Given the description of an element on the screen output the (x, y) to click on. 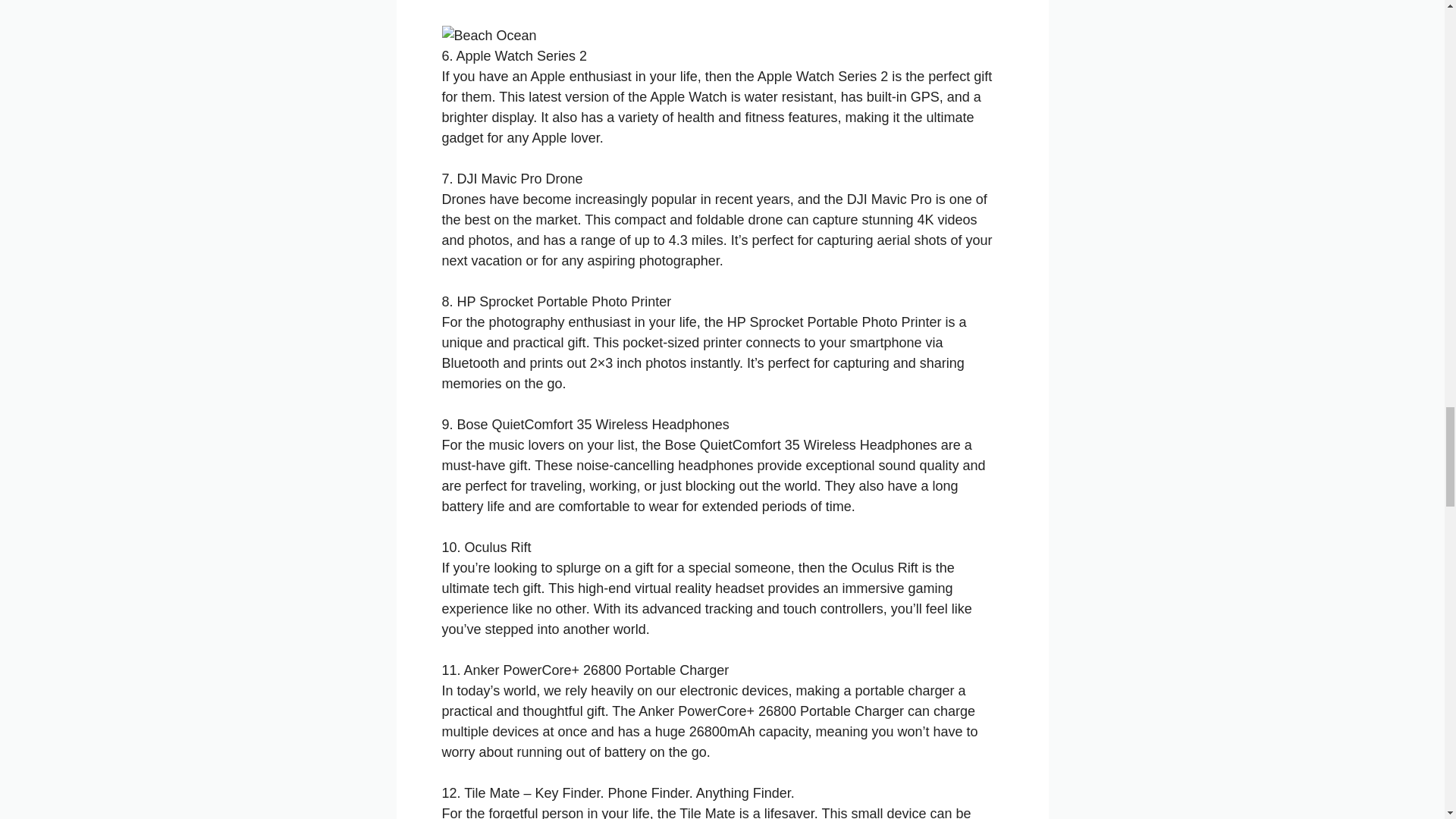
Beach Ocean (488, 35)
